Given the description of an element on the screen output the (x, y) to click on. 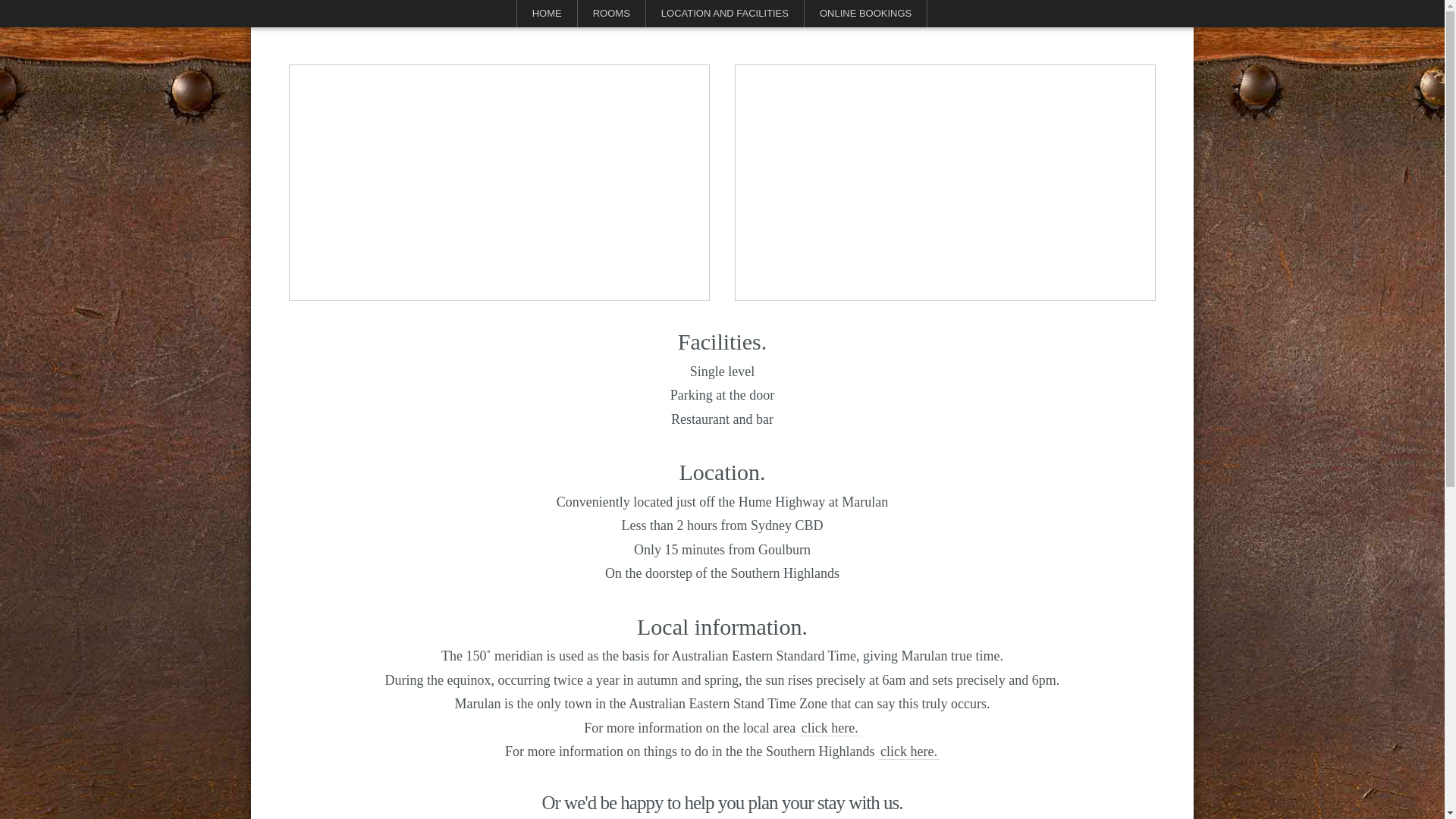
click here. Element type: text (829, 728)
HOME Element type: text (547, 13)
ONLINE BOOKINGS Element type: text (865, 13)
ROOMS Element type: text (611, 13)
click here. Element type: text (908, 751)
LOCATION AND FACILITIES Element type: text (724, 13)
